Given the description of an element on the screen output the (x, y) to click on. 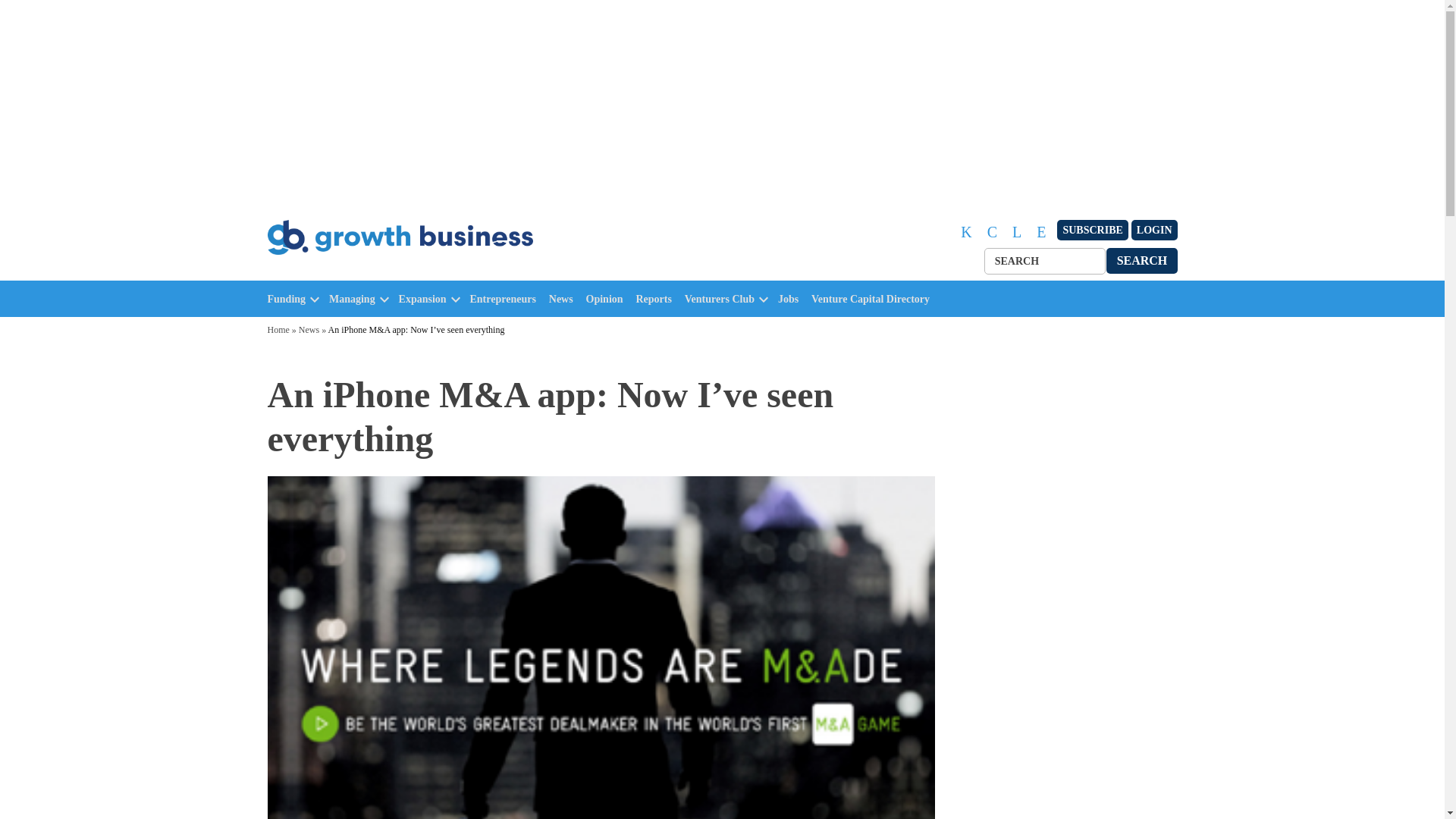
SEARCH (1142, 260)
Opinion (608, 298)
Managing (352, 298)
Entrepreneurs (506, 298)
News (564, 298)
Reports (656, 298)
Funding (285, 298)
LOGIN (1154, 230)
Growth Business (332, 271)
SUBSCRIBE (1091, 230)
Expansion (422, 298)
